Given the description of an element on the screen output the (x, y) to click on. 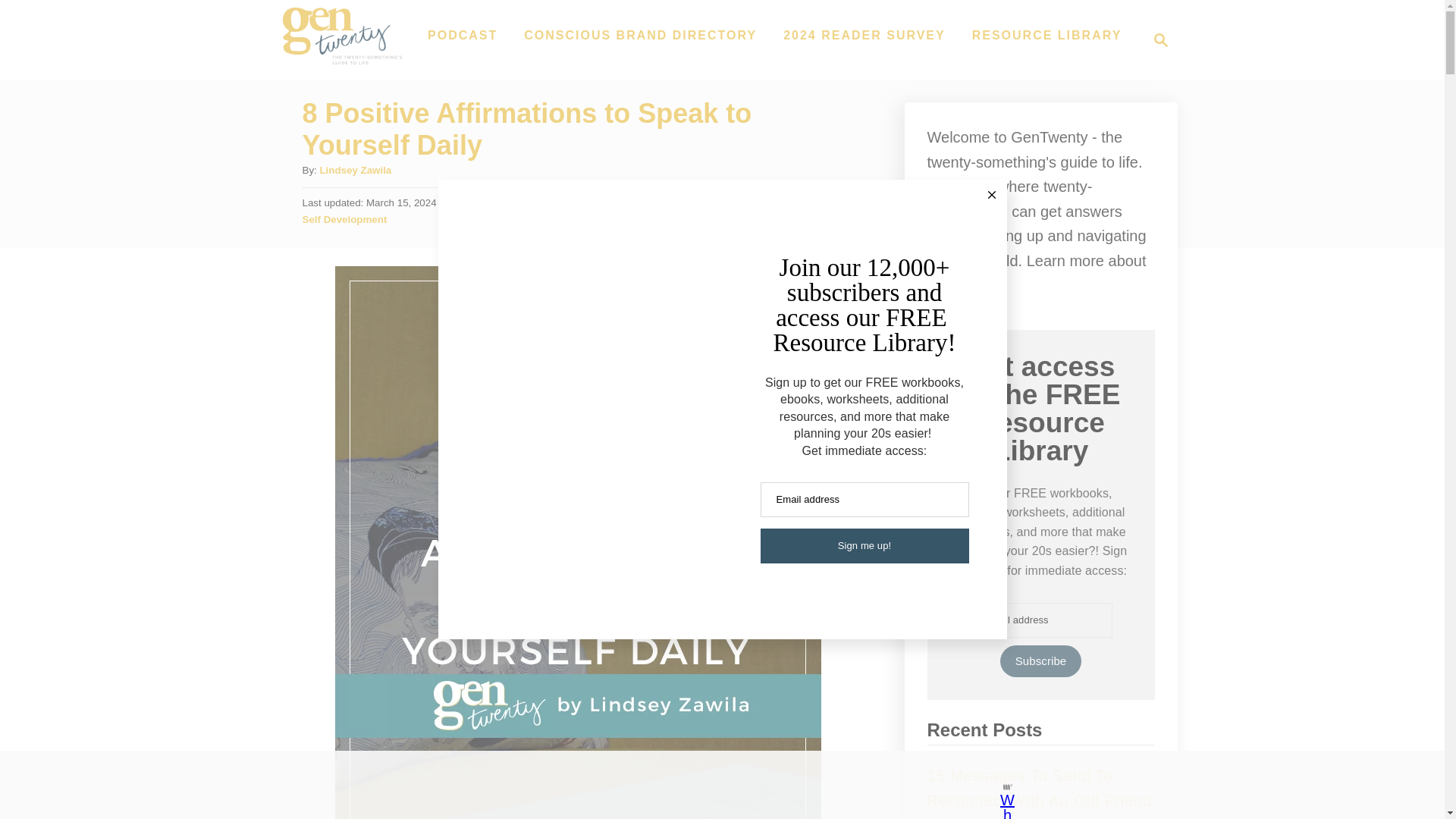
Lindsey Zawila (1155, 39)
Self Development (354, 170)
3rd party ad content (344, 219)
15 Messages To Send To Reconnect With An Old Friend (708, 785)
Subscribe (1038, 788)
CONSCIOUS BRAND DIRECTORY (1040, 661)
2024 READER SURVEY (640, 35)
Magnifying Glass (864, 35)
PODCAST (1160, 39)
GenTwenty (462, 35)
RESOURCE LIBRARY (341, 58)
here (1046, 35)
